Given the description of an element on the screen output the (x, y) to click on. 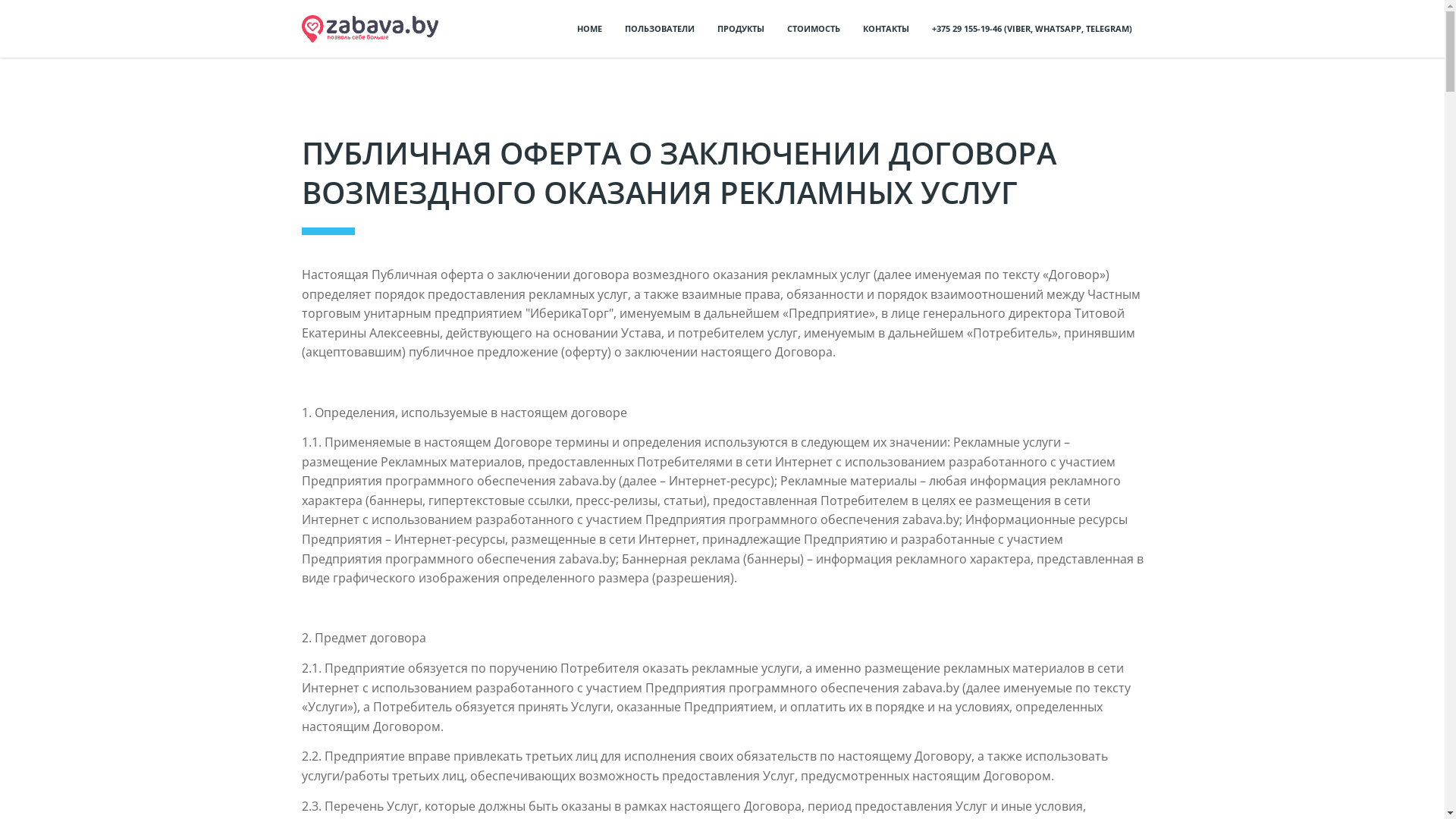
+375 29 155-19-46 (VIBER, WHATSAPP, TELEGRAM) Element type: text (1031, 28)
HOME Element type: text (588, 28)
